Given the description of an element on the screen output the (x, y) to click on. 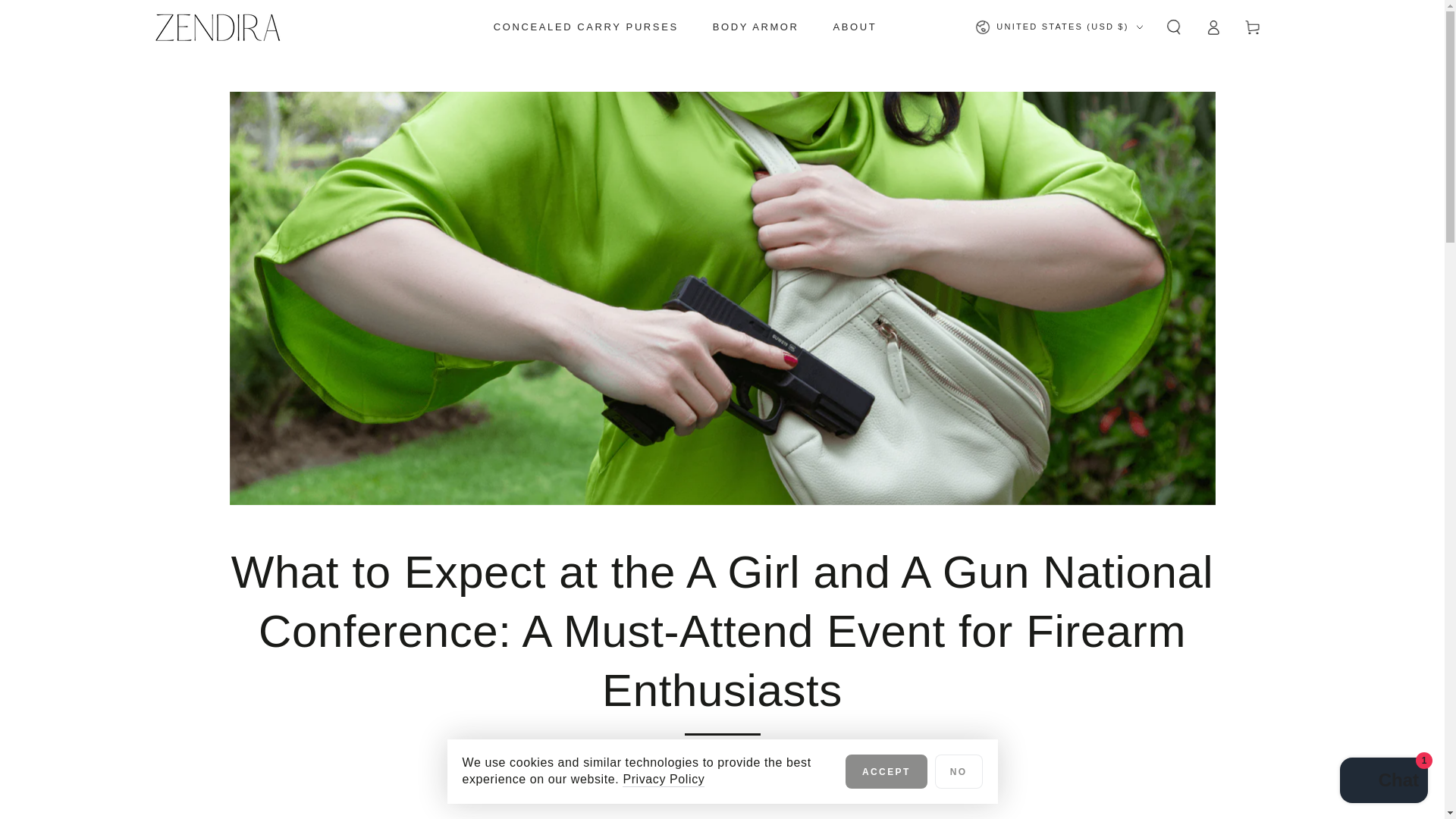
SKIP TO CONTENT (67, 14)
Shopify online store chat (1383, 781)
